Given the description of an element on the screen output the (x, y) to click on. 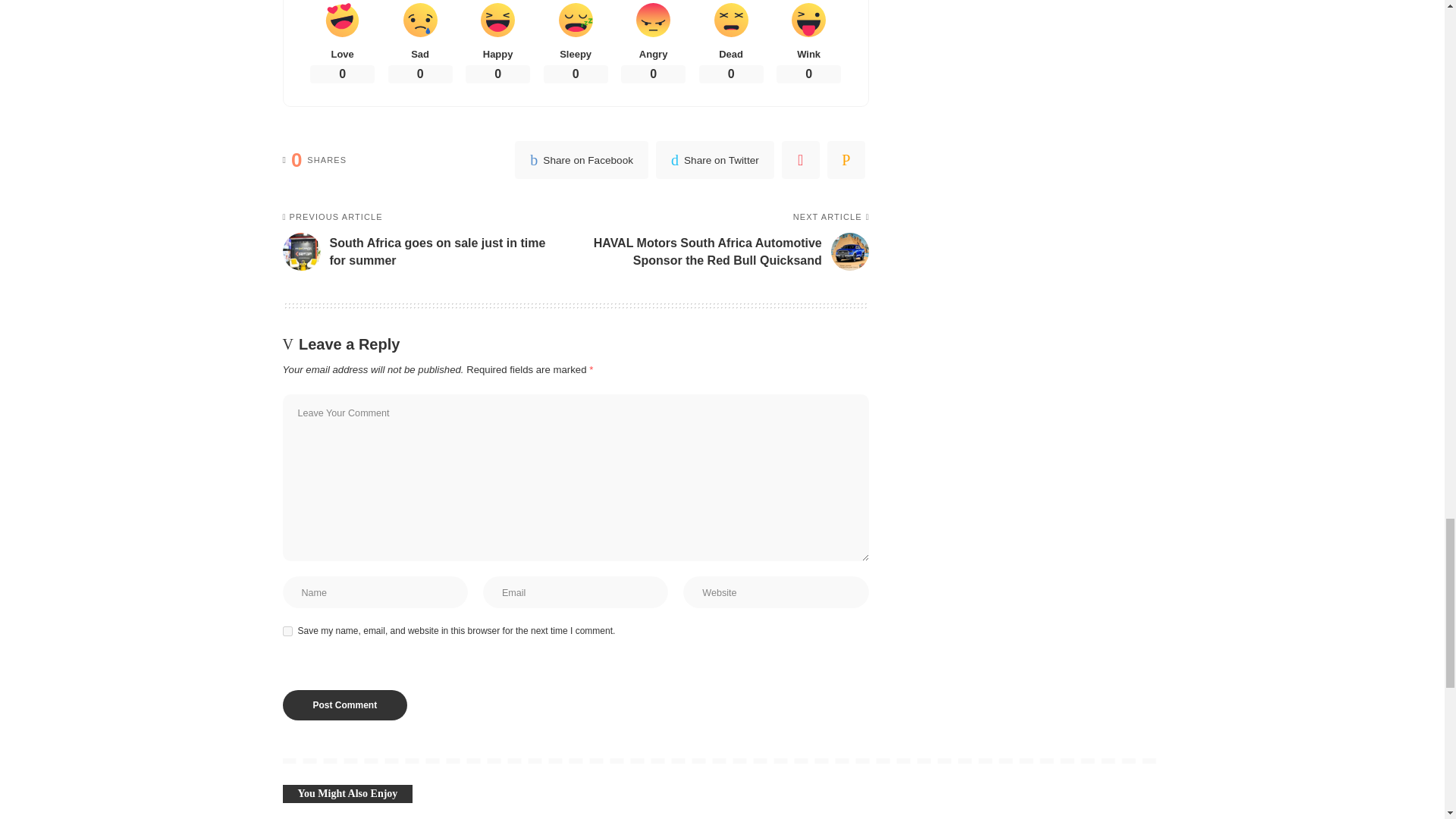
yes (287, 631)
Post Comment (344, 705)
